Given the description of an element on the screen output the (x, y) to click on. 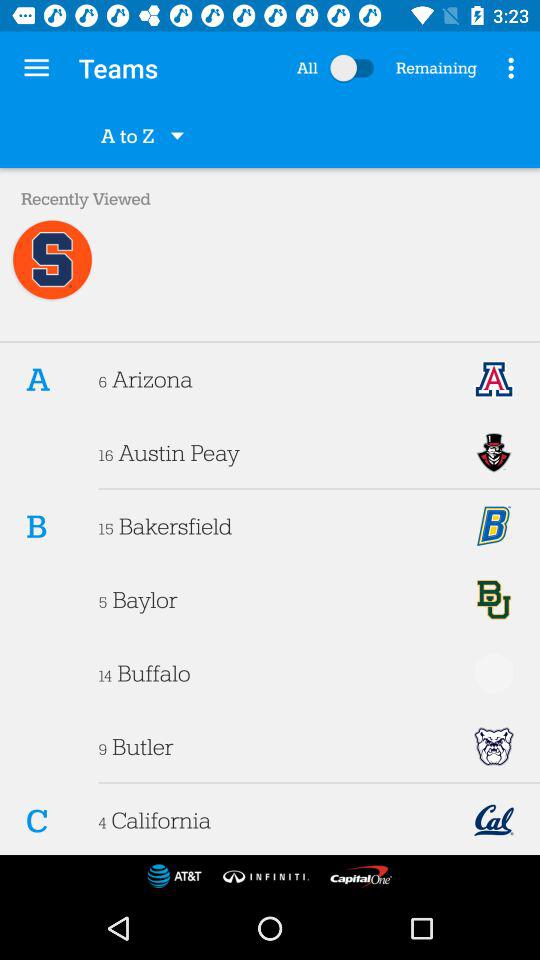
menu (356, 67)
